Given the description of an element on the screen output the (x, y) to click on. 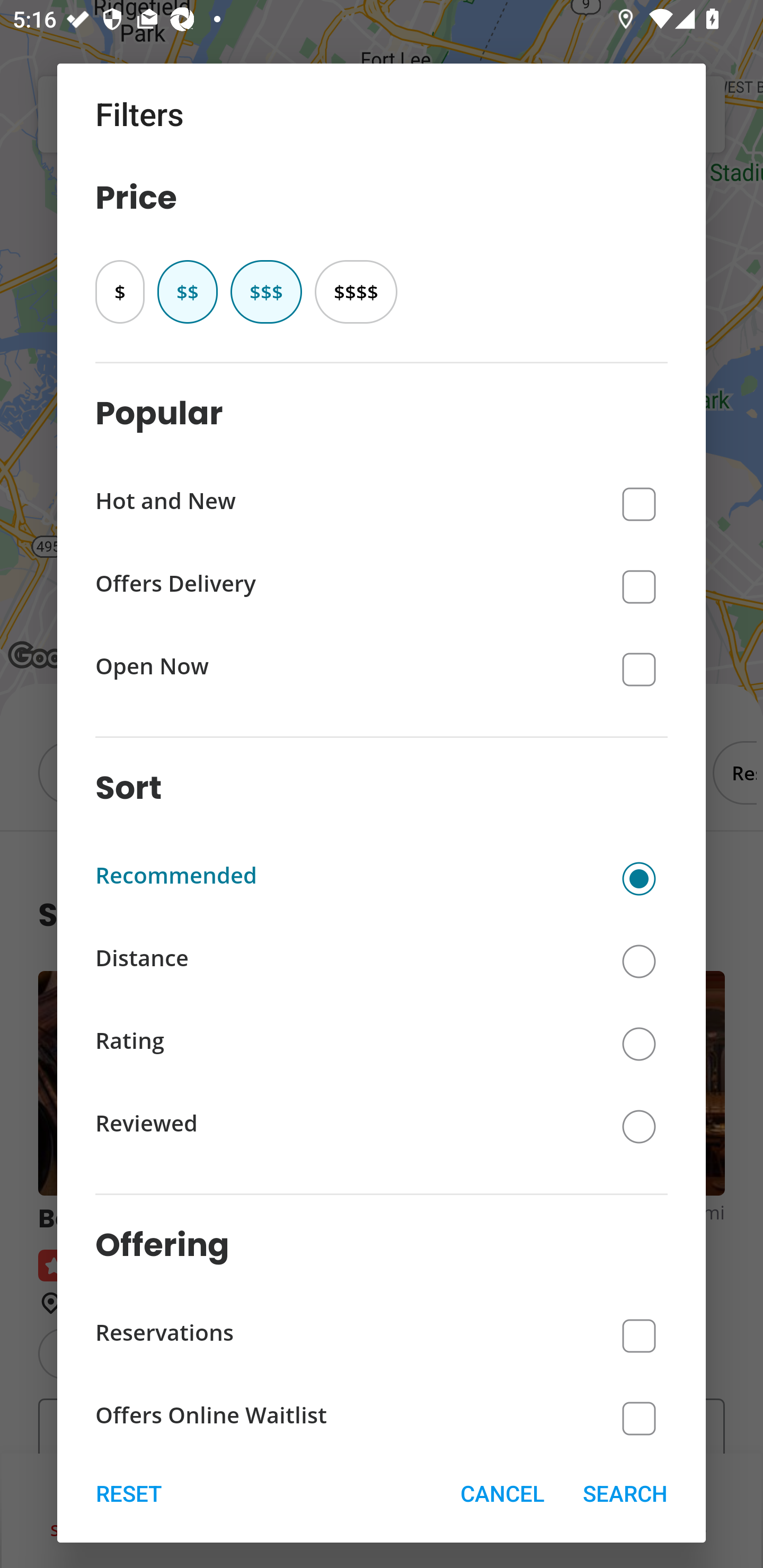
$$$$ (355, 291)
